Given the description of an element on the screen output the (x, y) to click on. 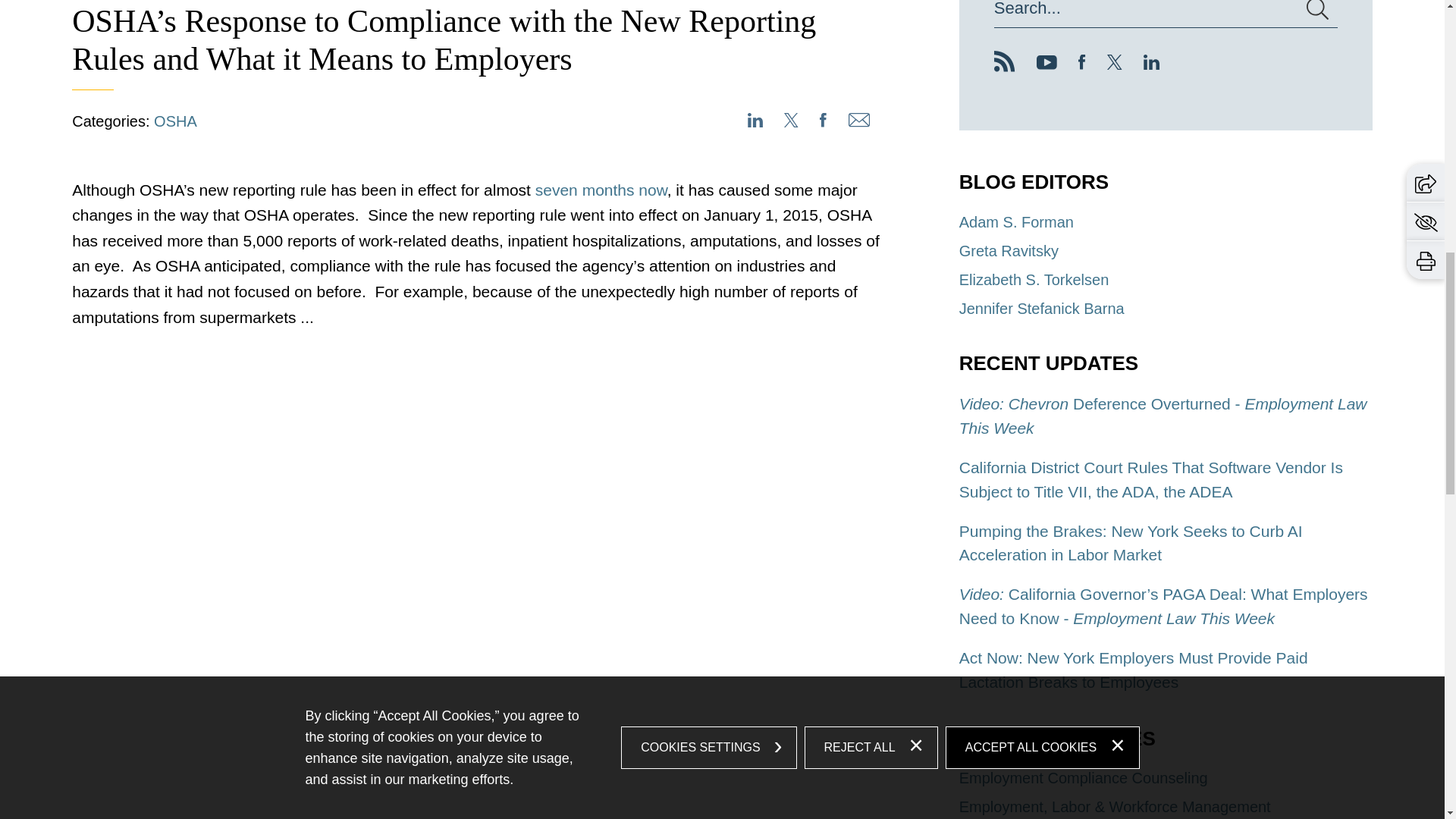
RSS (1004, 61)
Elizabeth S. Torkelsen (1034, 279)
seven months now (600, 189)
Jennifer Stefanick Barna (1041, 308)
Youtube (1046, 64)
Greta Ravitsky (1008, 250)
Linkedin (1150, 64)
Youtube (1046, 64)
Twitter (1114, 64)
Adam S. Forman (1016, 221)
RSS (1004, 66)
Linkedin (1150, 64)
